Given the description of an element on the screen output the (x, y) to click on. 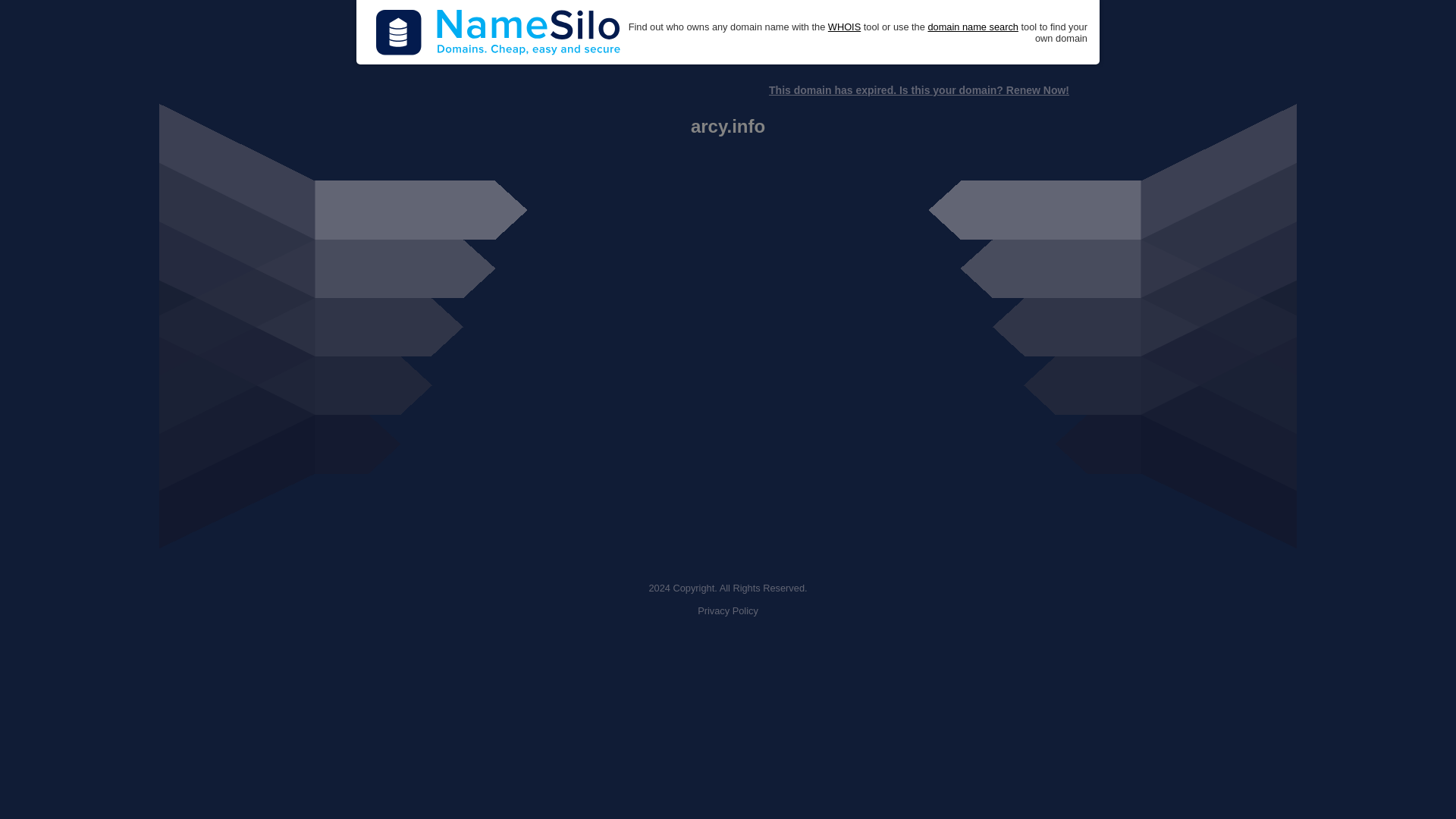
domain name search (972, 26)
WHOIS (844, 26)
Privacy Policy (727, 610)
This domain has expired. Is this your domain? Renew Now! (918, 90)
